Given the description of an element on the screen output the (x, y) to click on. 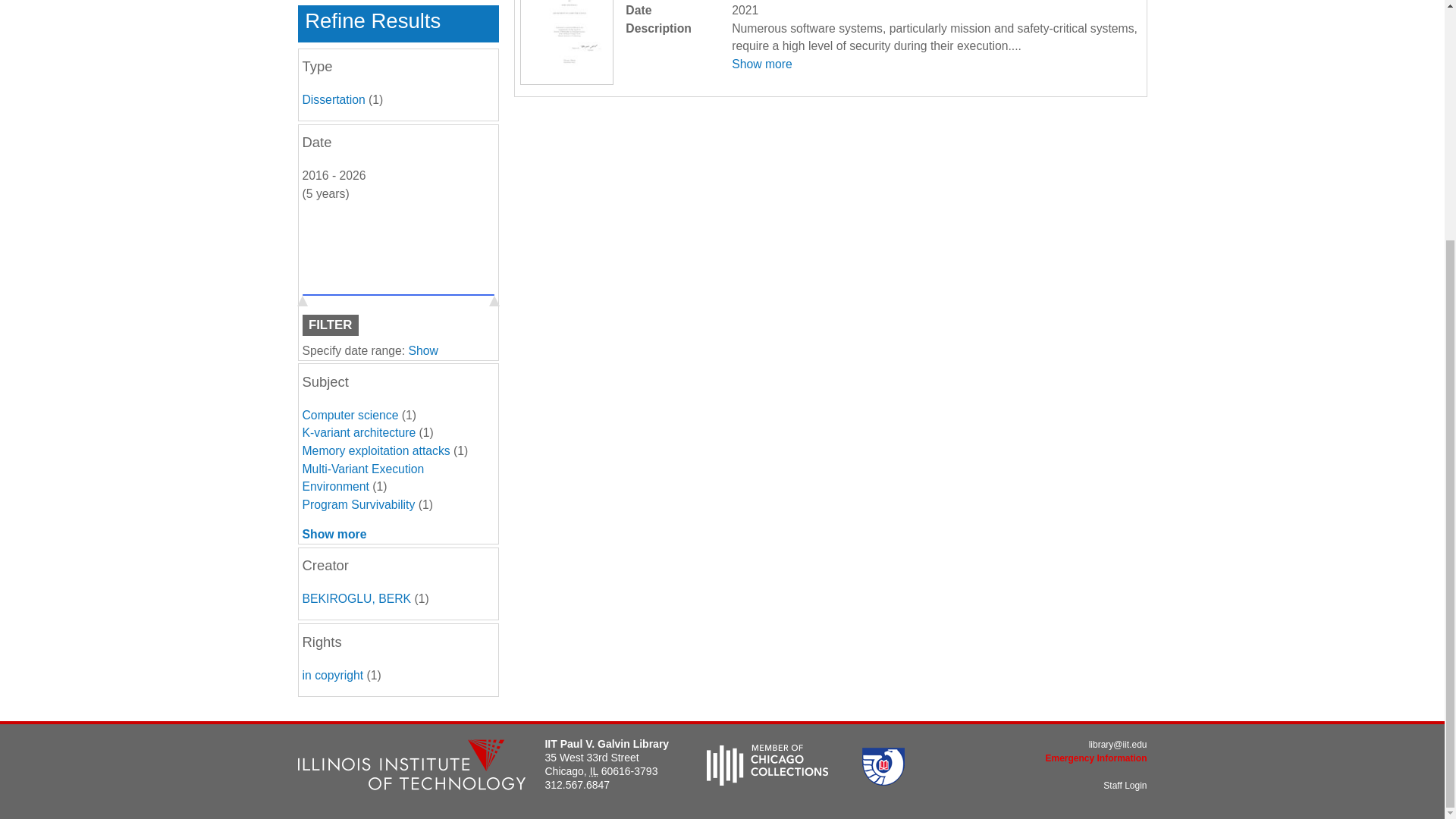
K-variant architecture (357, 431)
Program Survivability (357, 504)
Illinois Institute of Technology (410, 767)
Filter (329, 324)
Dissertation (333, 99)
Filter (329, 324)
Computer science (349, 414)
Federal Depository Library Program (882, 780)
Memory exploitation attacks (375, 450)
PROGRAM SURVIVABILITY THROUGH K-VARIANT ARCHITECTURE (565, 80)
Show (423, 350)
Emergency Information (1096, 757)
Show more (762, 63)
Multi-Variant Execution Environment (362, 477)
Chicago Collections (767, 780)
